Given the description of an element on the screen output the (x, y) to click on. 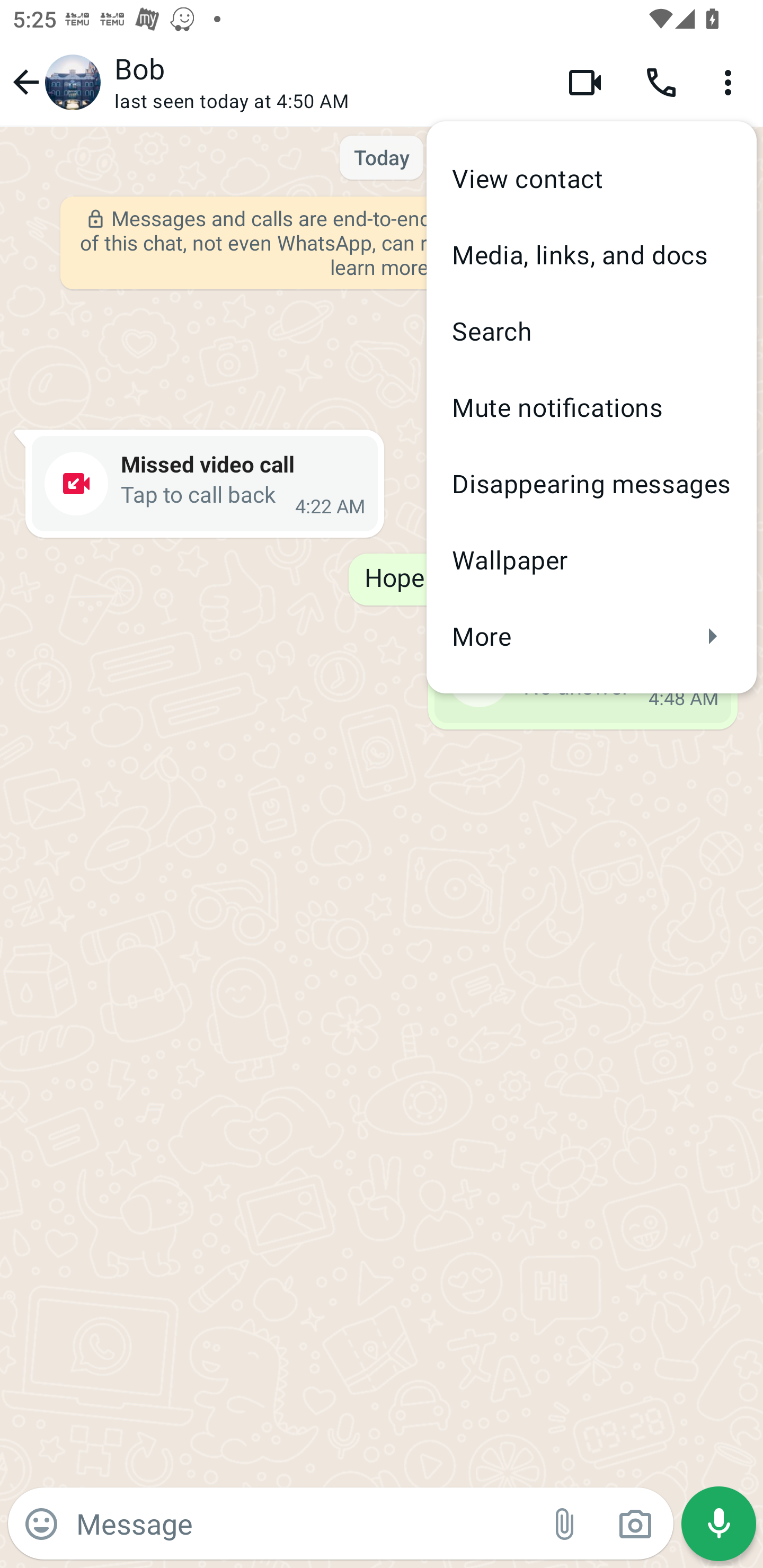
View contact (591, 178)
Media, links, and docs (591, 254)
Search (591, 330)
Mute notifications (591, 406)
Disappearing messages (591, 483)
Wallpaper (591, 559)
More (591, 635)
